Given the description of an element on the screen output the (x, y) to click on. 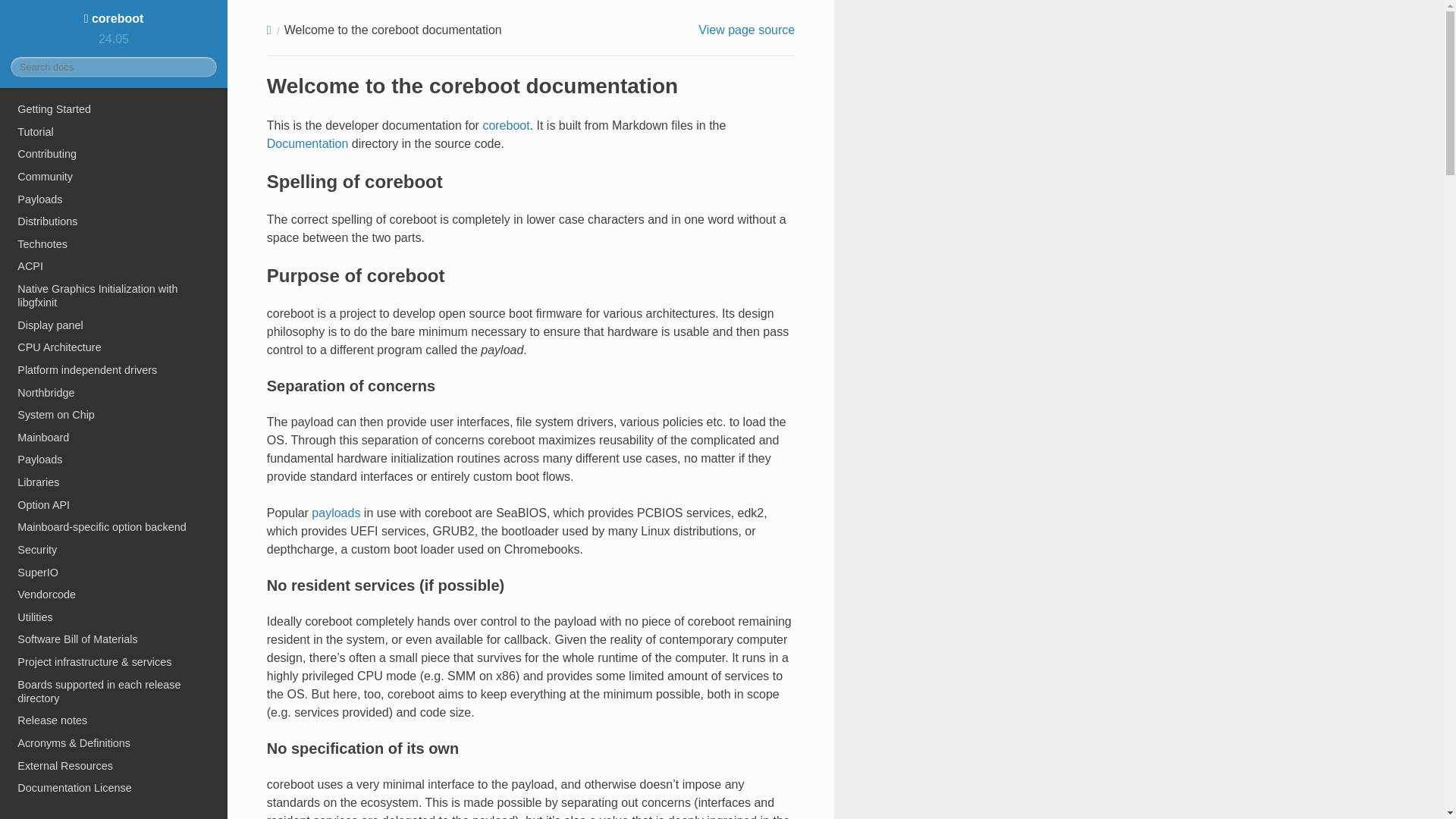
Boards supported in each release directory (113, 691)
ACPI (113, 266)
Platform independent drivers (113, 369)
System on Chip (113, 414)
Community (113, 176)
Mainboard (113, 436)
Libraries (113, 481)
Security (113, 549)
SuperIO (113, 572)
View page source (746, 29)
Distributions (113, 220)
CPU Architecture (113, 346)
Documentation (307, 143)
coreboot (505, 124)
coreboot (114, 18)
